Given the description of an element on the screen output the (x, y) to click on. 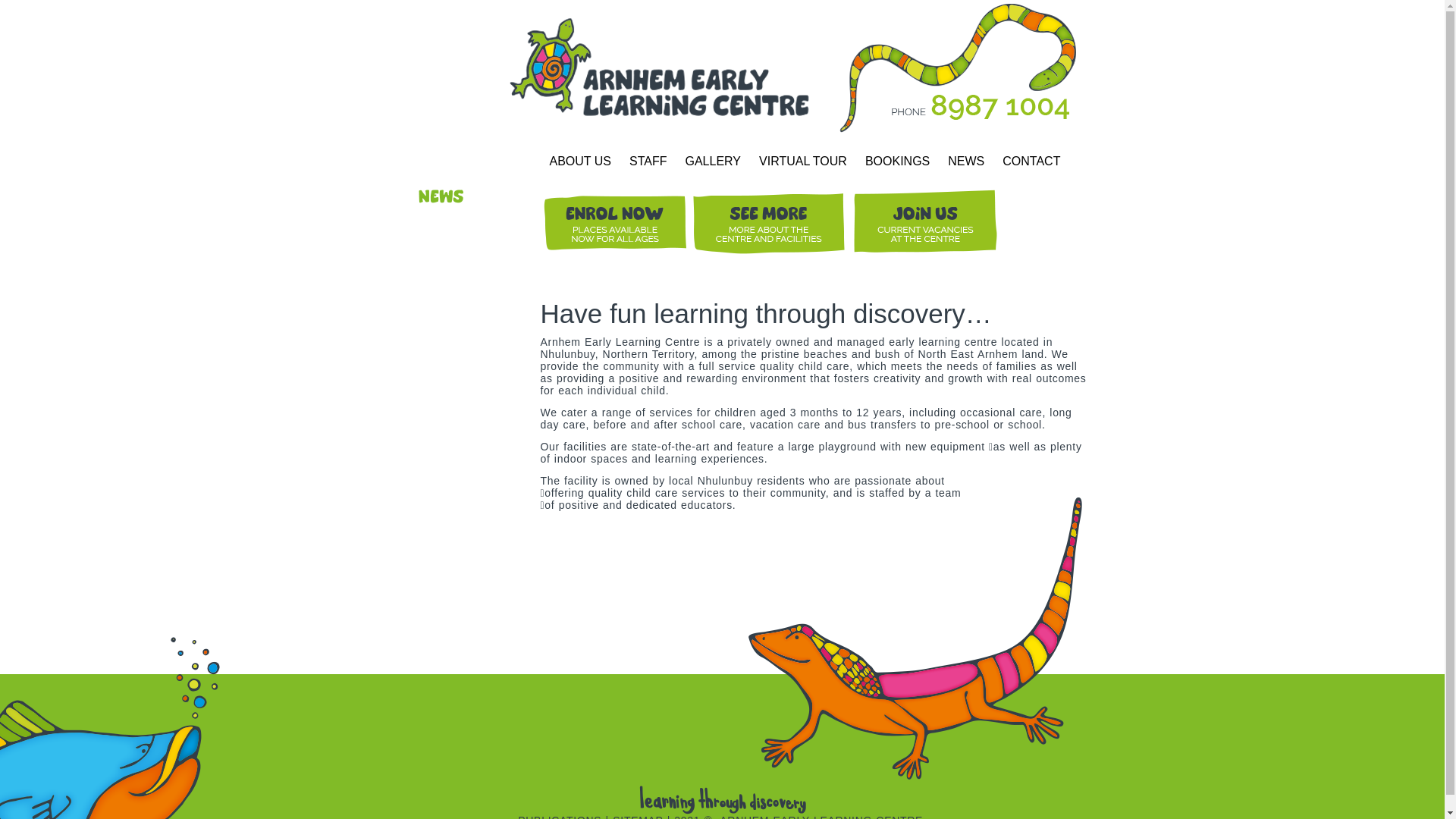
VIRTUAL TOUR Element type: text (802, 161)
ABOUT US Element type: text (579, 161)
BOOKINGS Element type: text (897, 161)
GALLERY Element type: text (712, 161)
CONTACT Element type: text (1031, 161)
NEWS Element type: text (965, 161)
STAFF Element type: text (647, 161)
